Given the description of an element on the screen output the (x, y) to click on. 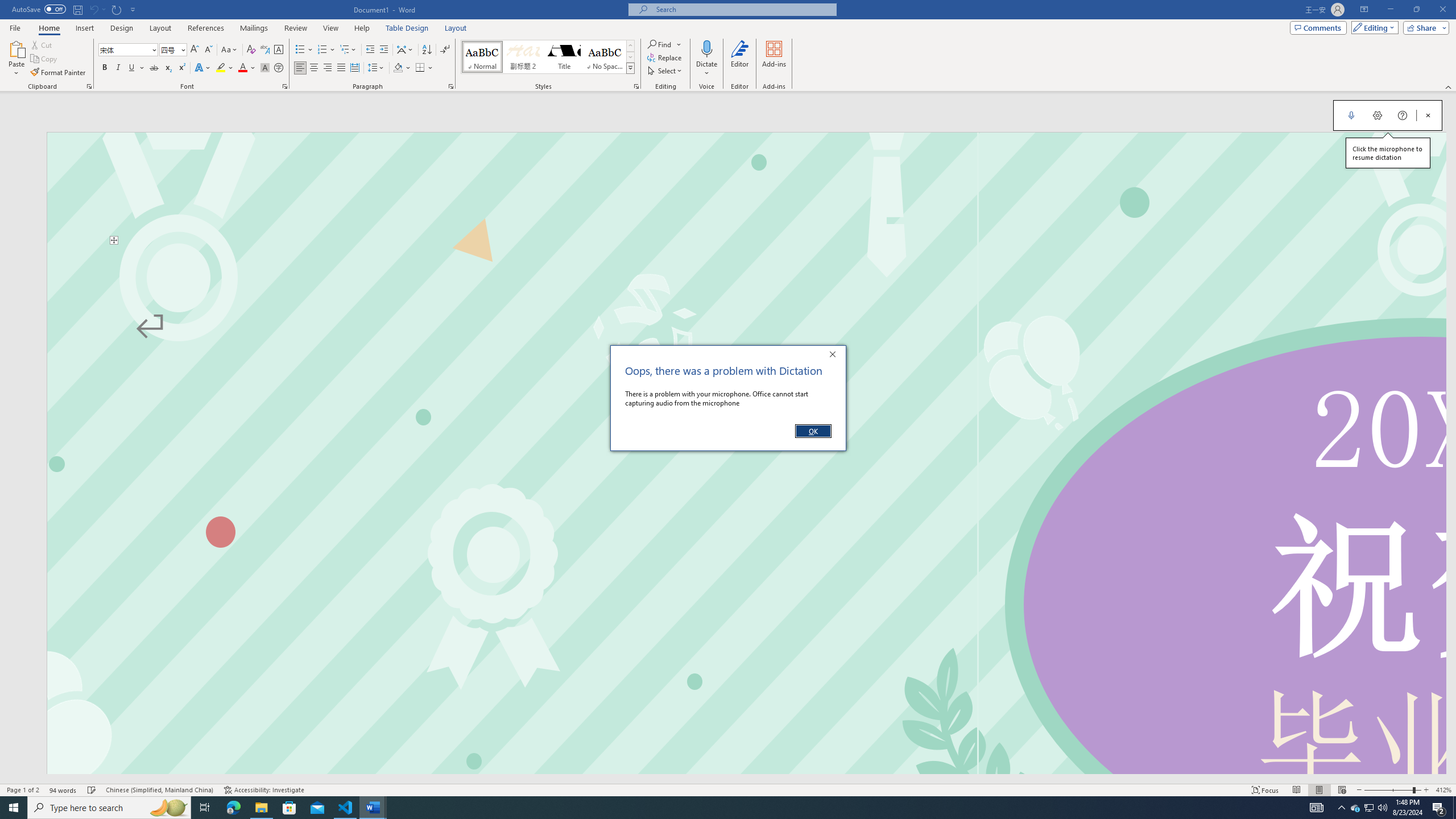
First Page Header -Section 1- (745, 187)
OK (812, 431)
Running applications (717, 807)
